Given the description of an element on the screen output the (x, y) to click on. 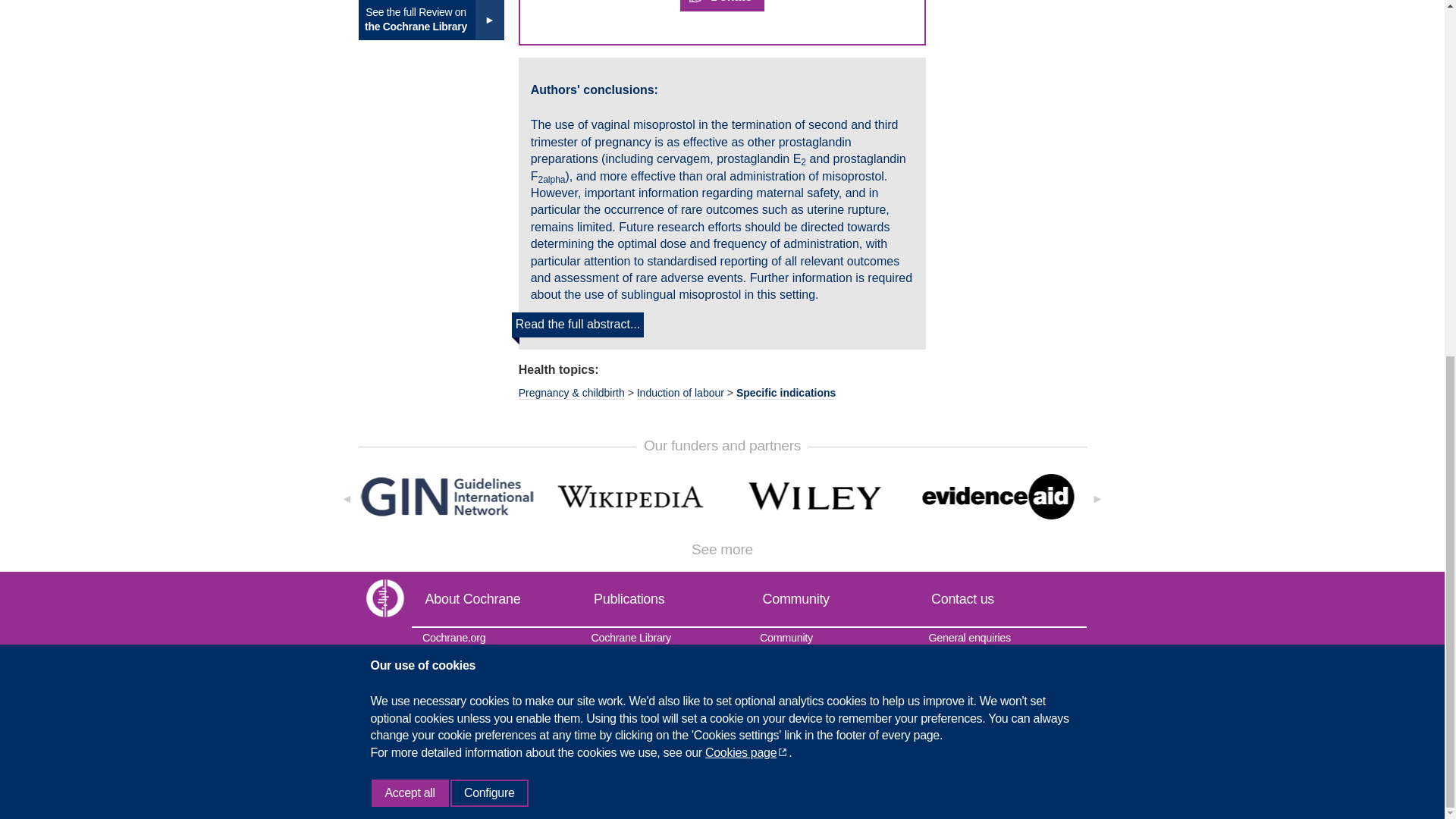
Induction of labour (680, 392)
Donate (720, 6)
Specific indications (785, 392)
